Given the description of an element on the screen output the (x, y) to click on. 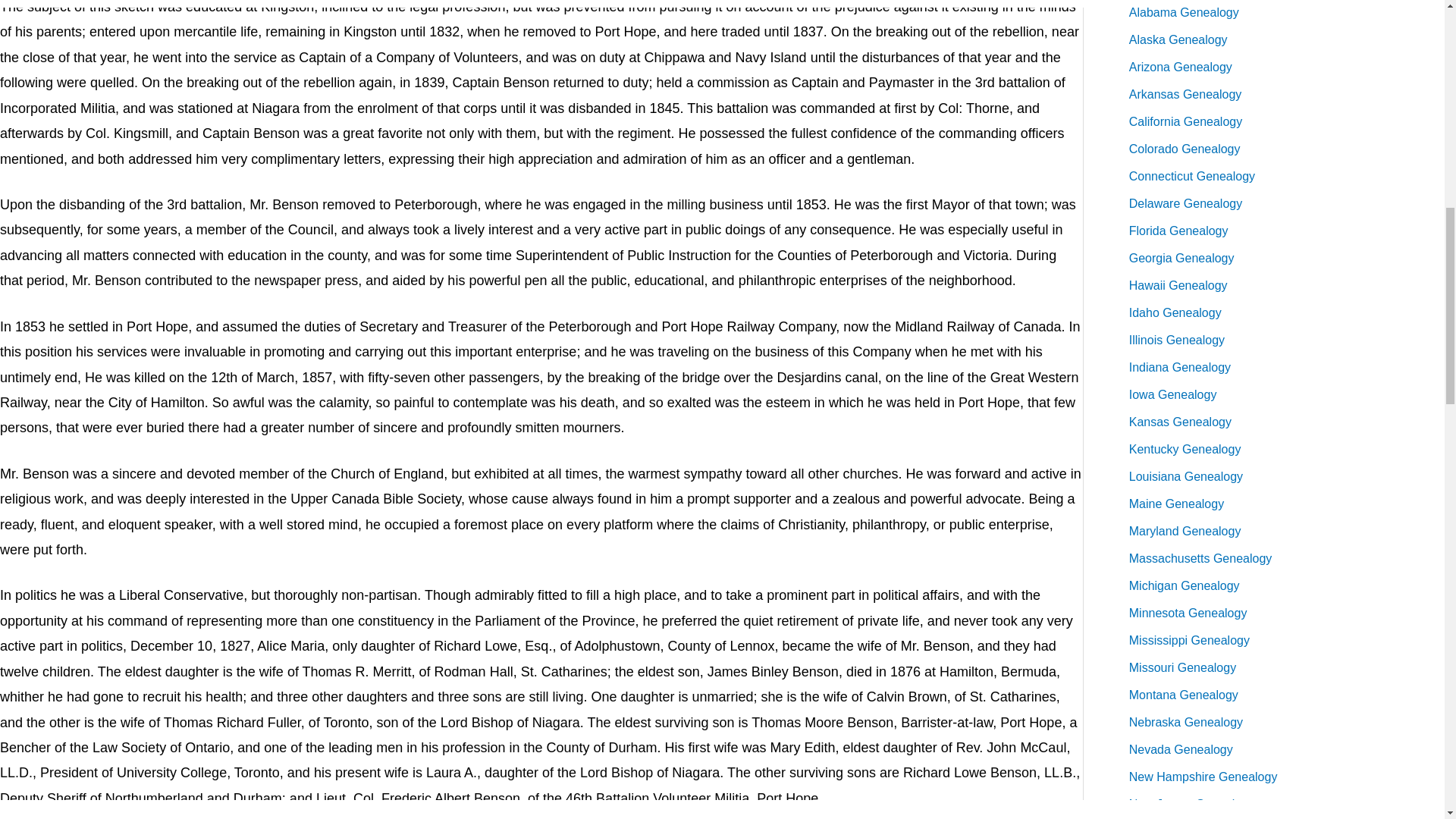
Alaska Genealogy (1178, 39)
Connecticut Genealogy (1192, 175)
Alaska Genealogy (1178, 39)
Arizona Genealogy (1180, 66)
Hawaii Genealogy (1178, 285)
Idaho Genealogy (1175, 312)
Arkansas Genealogy (1185, 93)
Illinois Genealogy (1176, 339)
Alabama Genealogy (1184, 11)
California Genealogy (1185, 121)
Colorado Genealogy (1184, 148)
Florida Genealogy (1178, 230)
Alabama Genealogy (1184, 11)
Delaware Genealogy (1185, 203)
Arizona Genealogy (1180, 66)
